Given the description of an element on the screen output the (x, y) to click on. 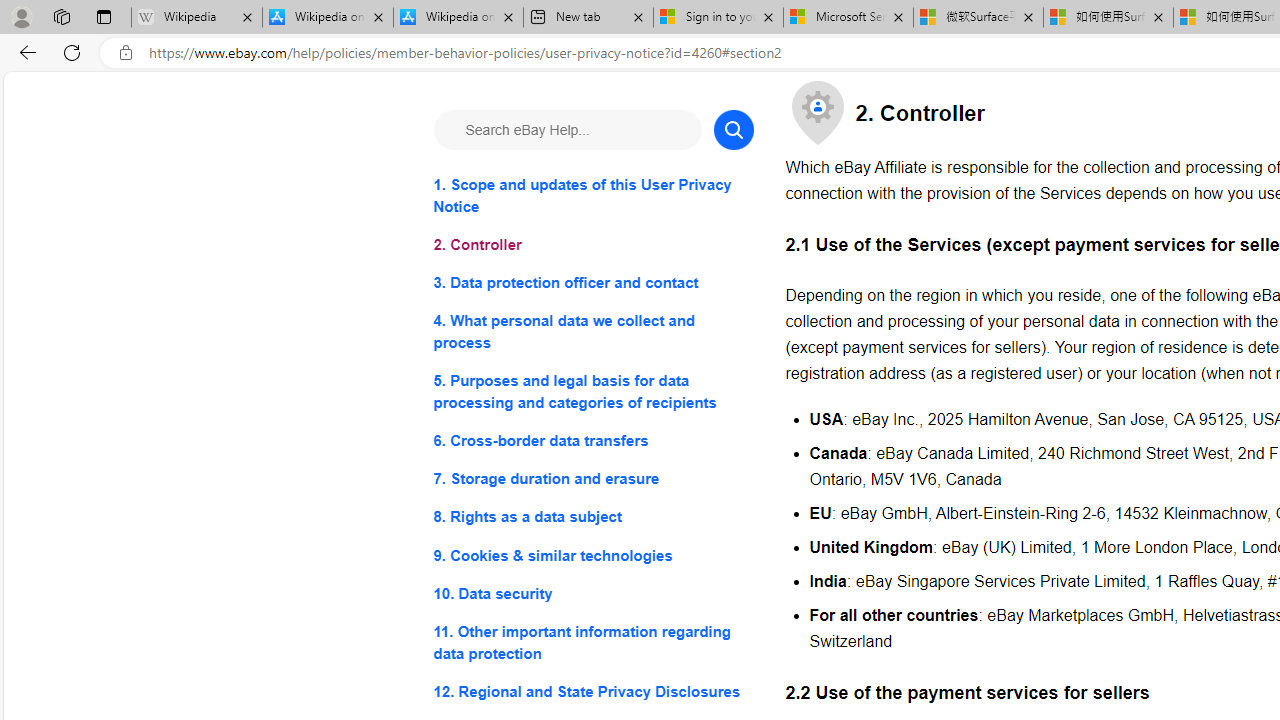
1. Scope and updates of this User Privacy Notice (592, 196)
2. Controller (592, 245)
6. Cross-border data transfers (592, 440)
10. Data security (592, 592)
4. What personal data we collect and process (592, 332)
3. Data protection officer and contact (592, 283)
4. What personal data we collect and process (592, 332)
